Given the description of an element on the screen output the (x, y) to click on. 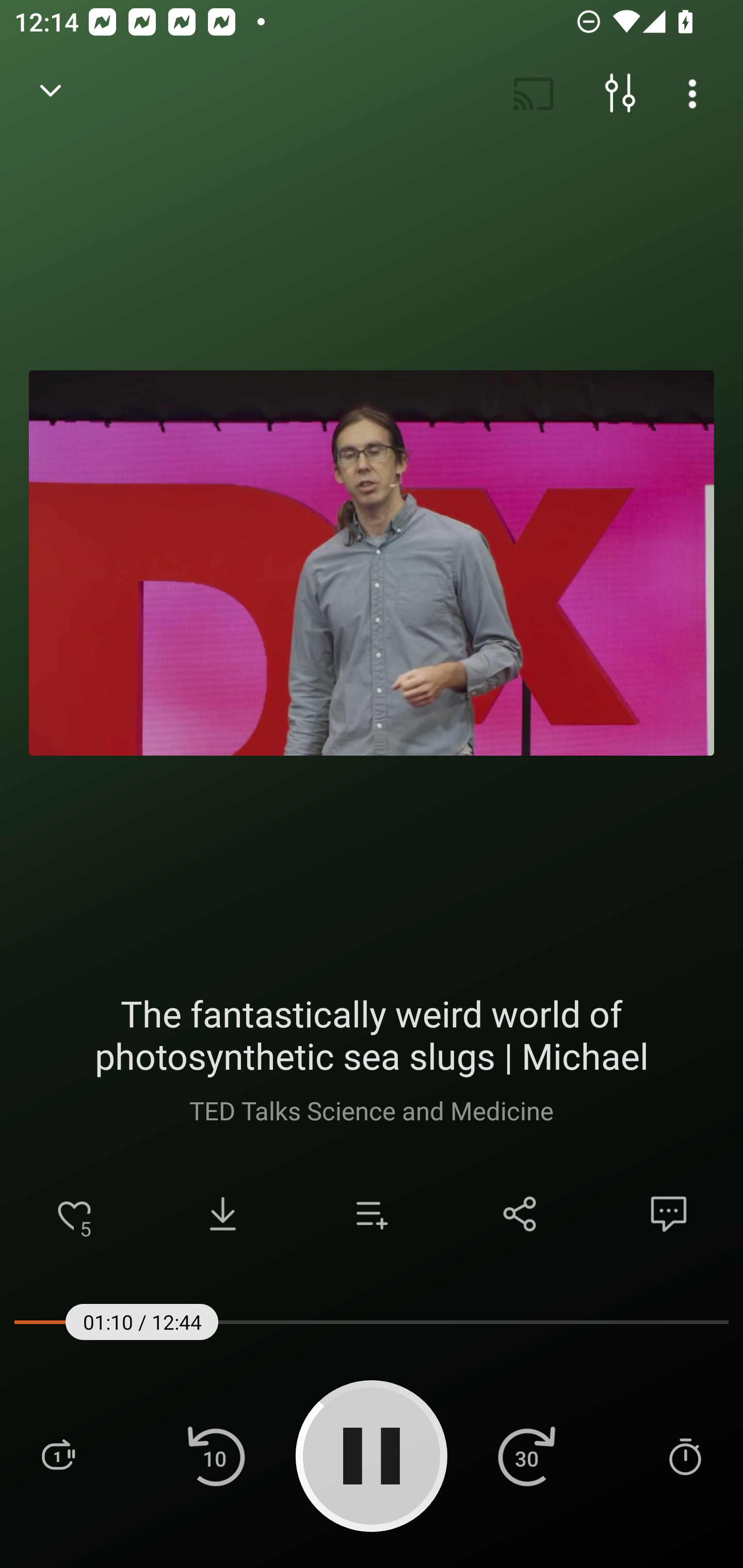
Cast. Disconnected (533, 93)
 Back (50, 94)
TED Talks Science and Medicine (370, 1109)
Share (519, 1214)
Comments (668, 1214)
Add to Favorites (73, 1214)
Add to playlist (371, 1214)
 Playlist (57, 1455)
Sleep Timer  (684, 1455)
